Given the description of an element on the screen output the (x, y) to click on. 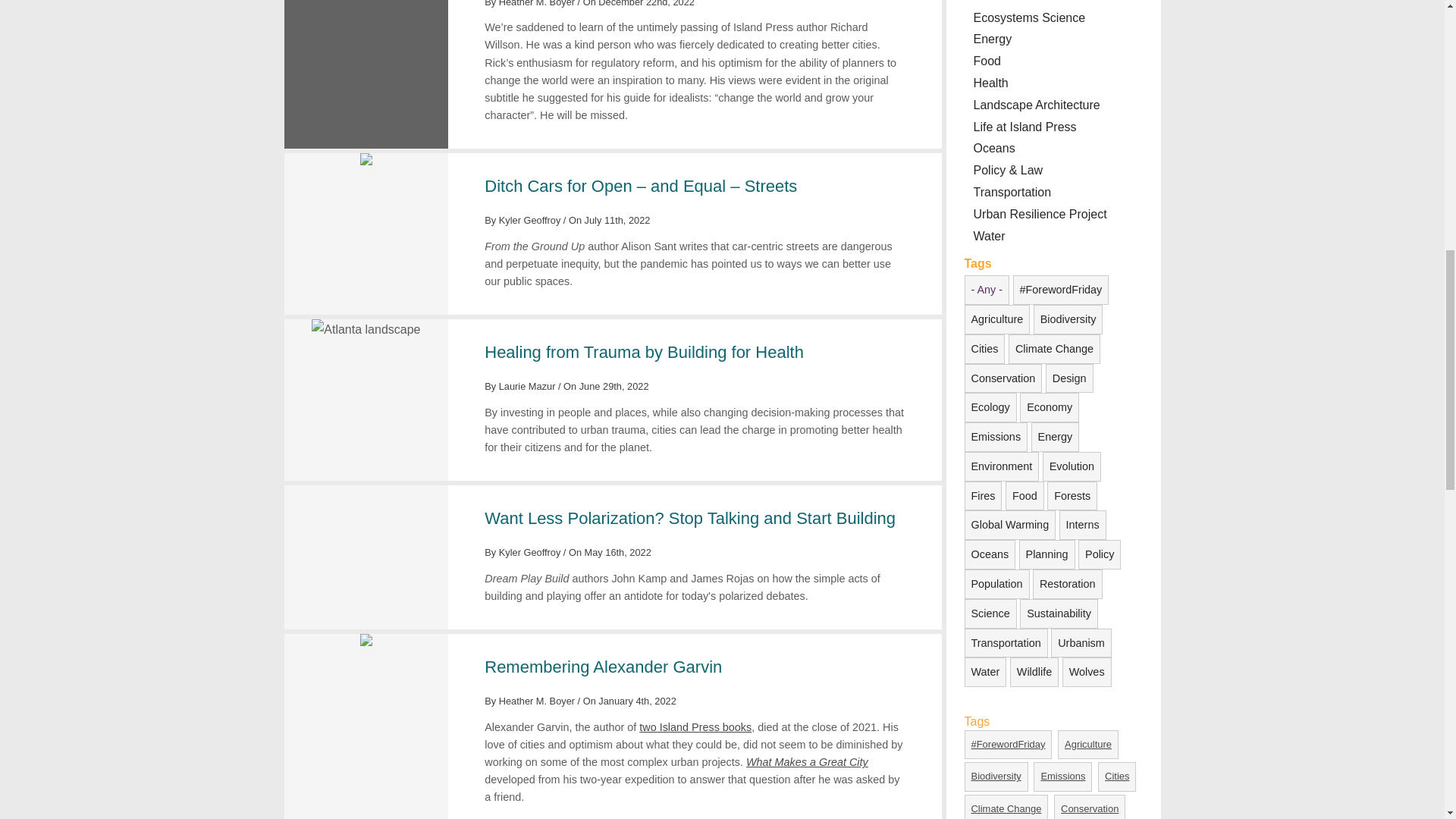
Healing from Trauma by Building for Health (643, 352)
Want Less Polarization? Stop Talking and Start Building (689, 517)
